Given the description of an element on the screen output the (x, y) to click on. 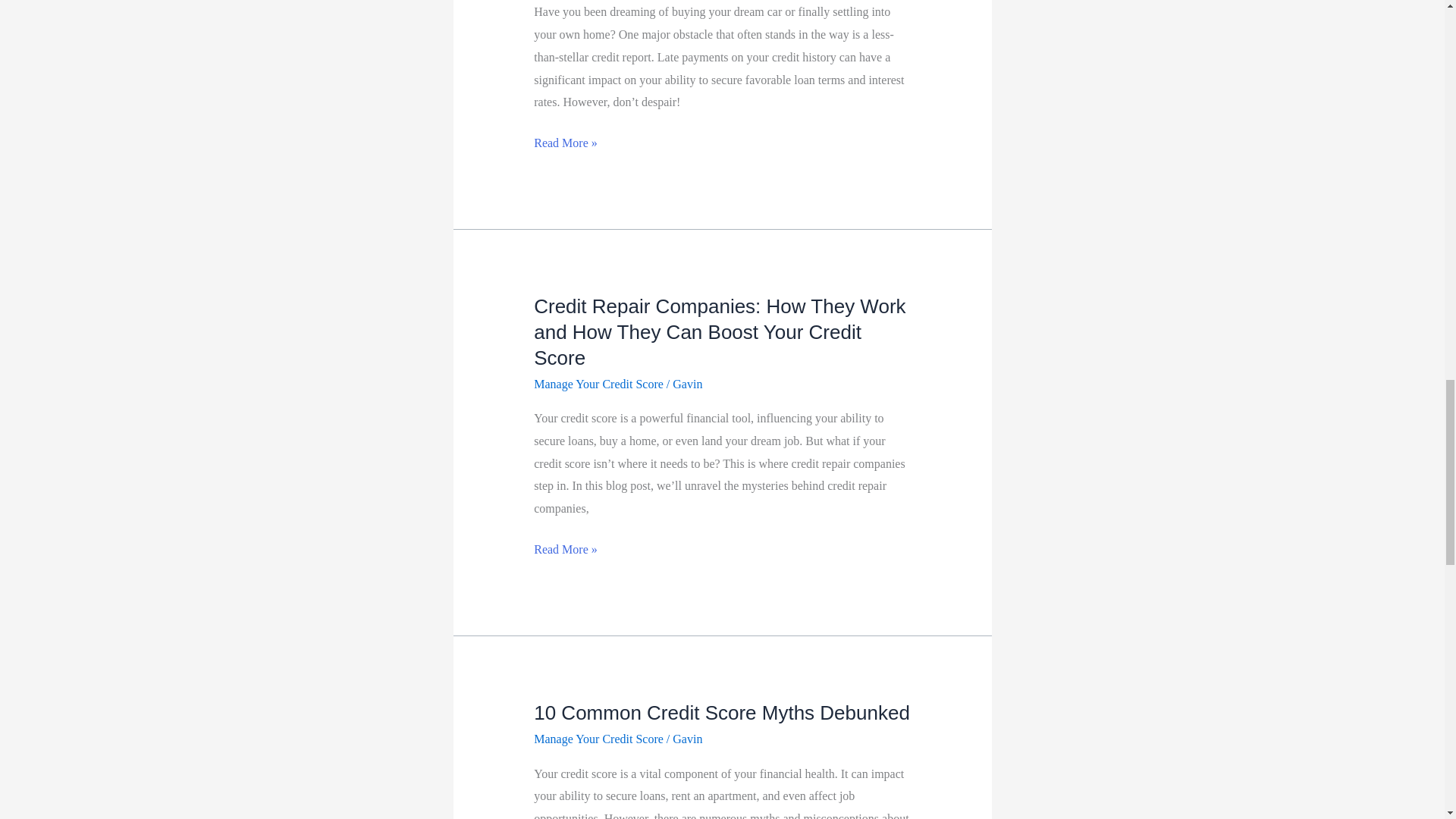
View all posts by Gavin (686, 738)
Manage Your Credit Score (598, 383)
10 Common Credit Score Myths Debunked (722, 712)
Manage Your Credit Score (598, 738)
Gavin (686, 383)
Gavin (686, 738)
View all posts by Gavin (686, 383)
